Given the description of an element on the screen output the (x, y) to click on. 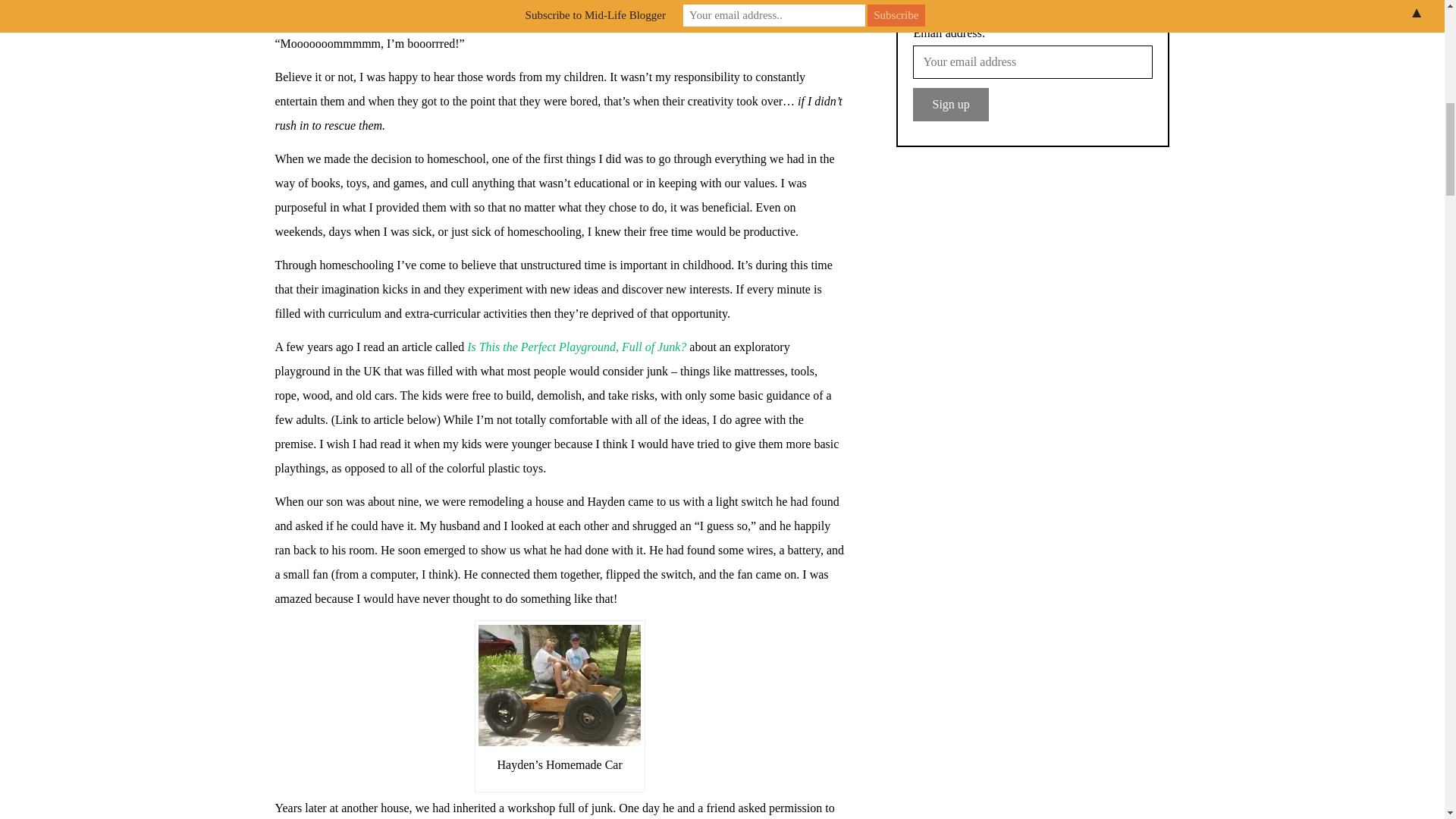
Sign up (950, 104)
Is This the Perfect Playground, Full of Junk? (576, 346)
